Given the description of an element on the screen output the (x, y) to click on. 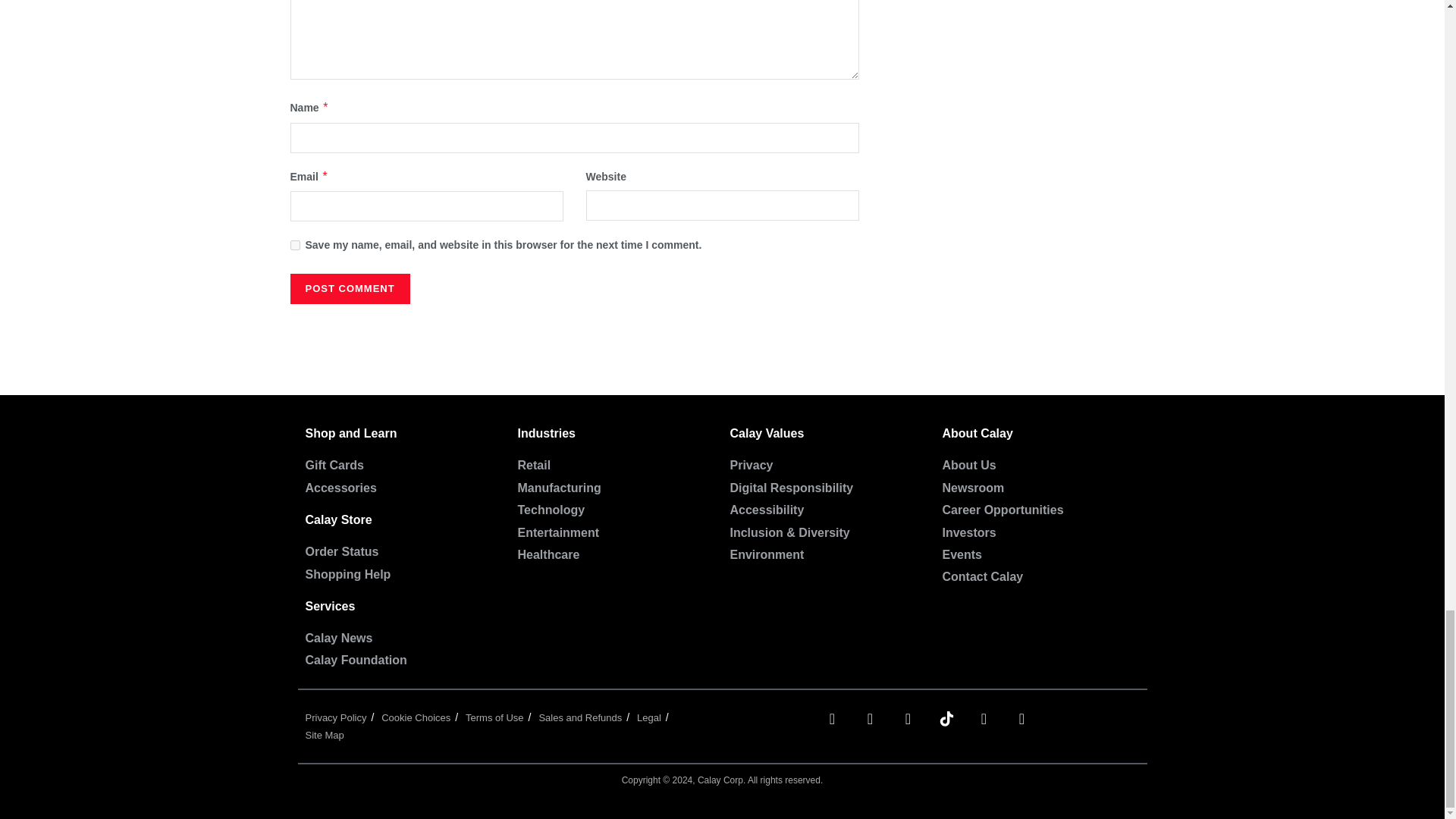
yes (294, 245)
Post Comment (349, 288)
